Given the description of an element on the screen output the (x, y) to click on. 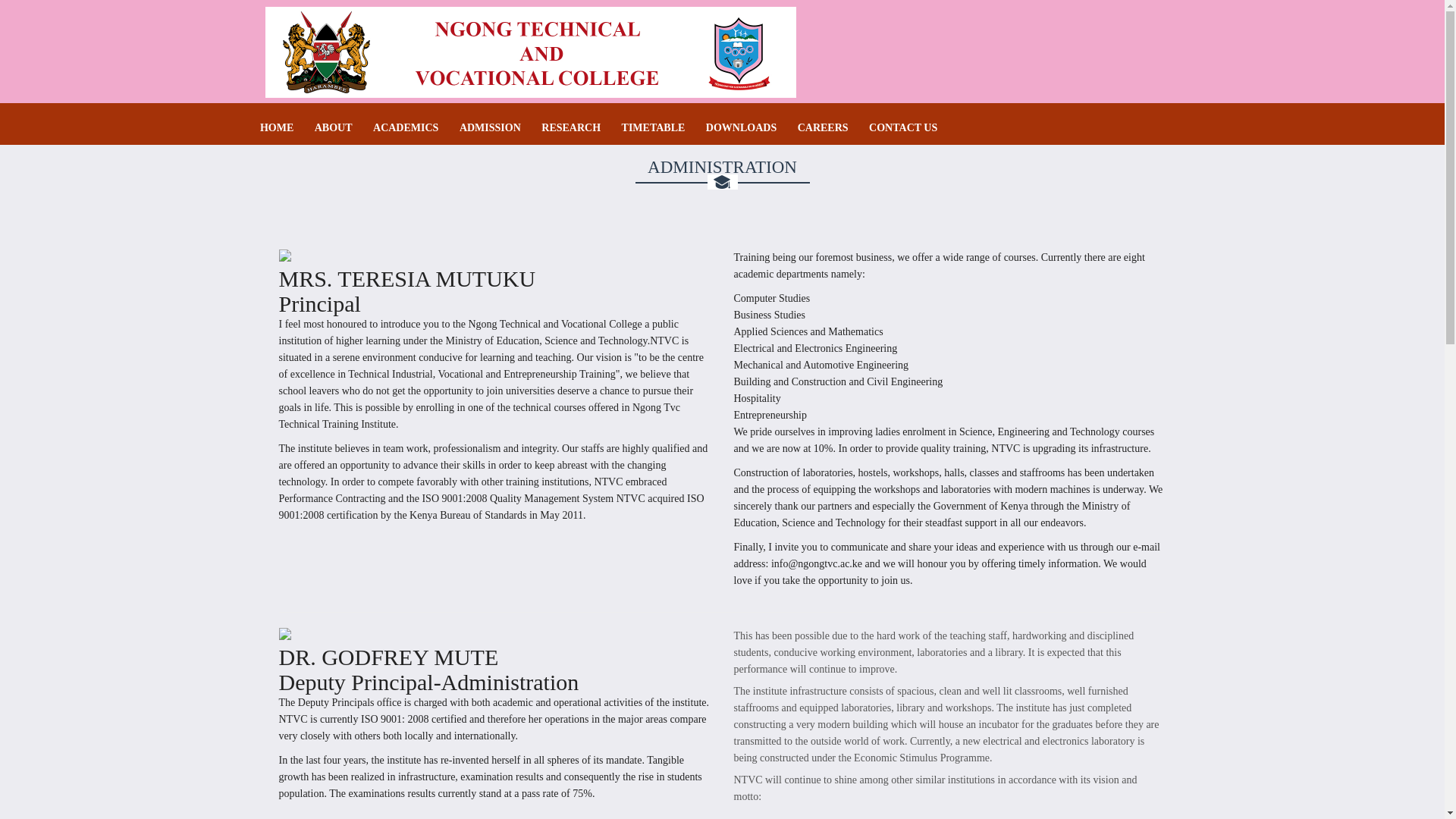
ACADEMICS (405, 127)
ABOUT (333, 127)
HOME (277, 127)
TIMETABLE (653, 127)
RESEARCH (570, 127)
DOWNLOADS (741, 127)
CAREERS (822, 127)
ADMISSION (490, 127)
